Given the description of an element on the screen output the (x, y) to click on. 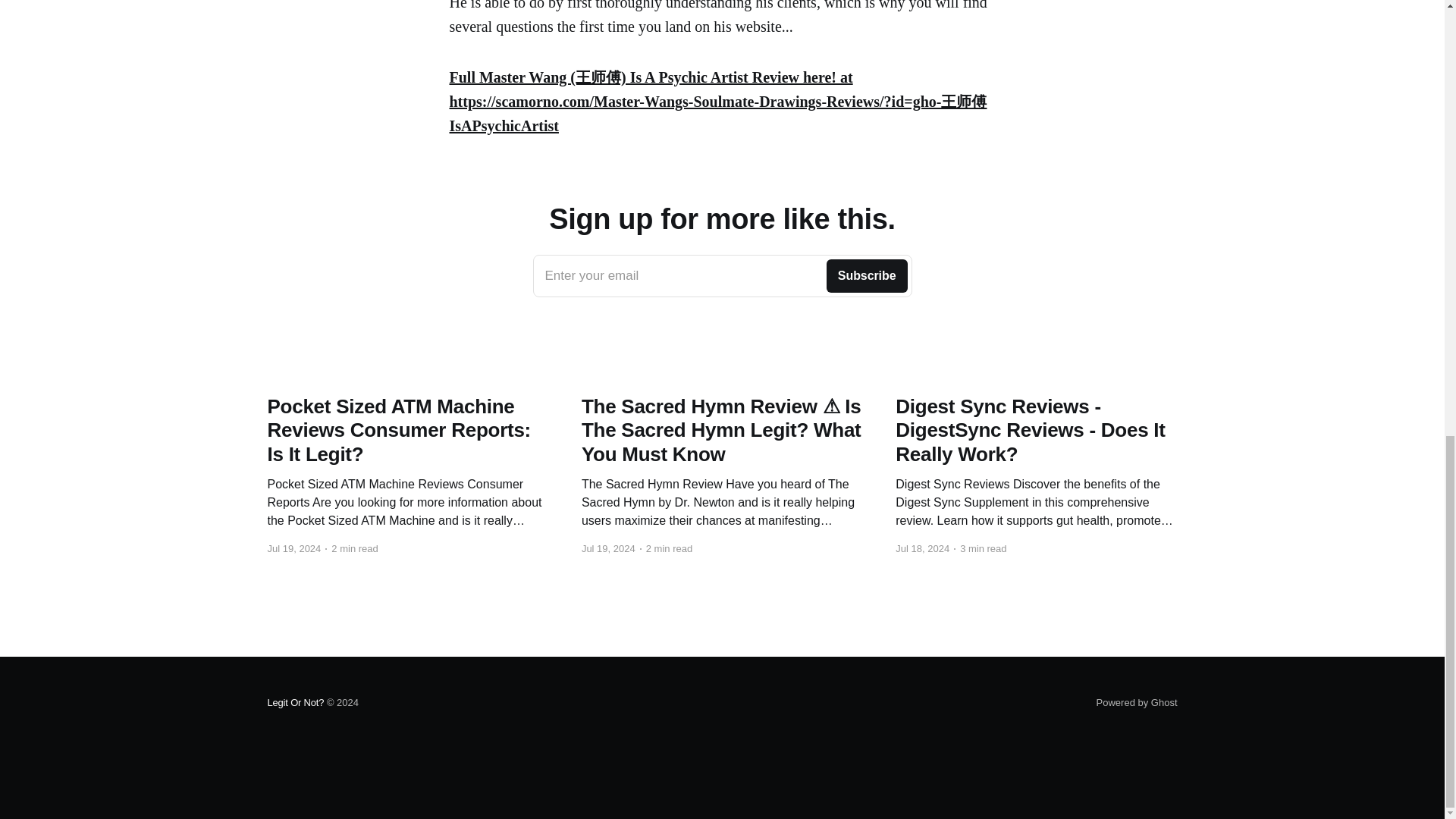
Powered by Ghost (721, 275)
Legit Or Not? (1136, 702)
